Given the description of an element on the screen output the (x, y) to click on. 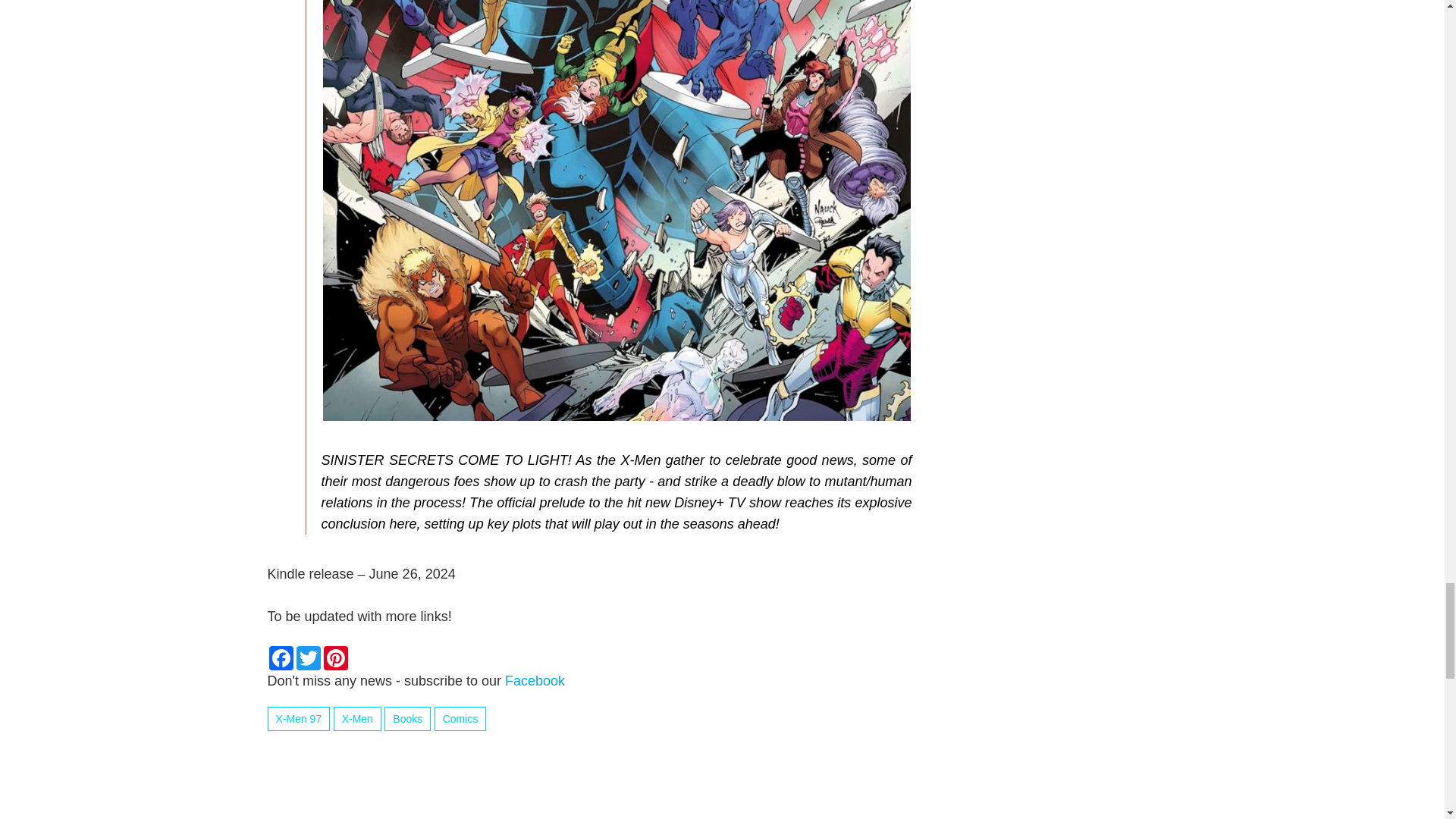
Facebook (534, 680)
X-Men 97 (298, 718)
X-Men (357, 718)
Books (407, 718)
Facebook (280, 658)
Twitter (307, 658)
Pinterest (335, 658)
Comics (459, 718)
